Given the description of an element on the screen output the (x, y) to click on. 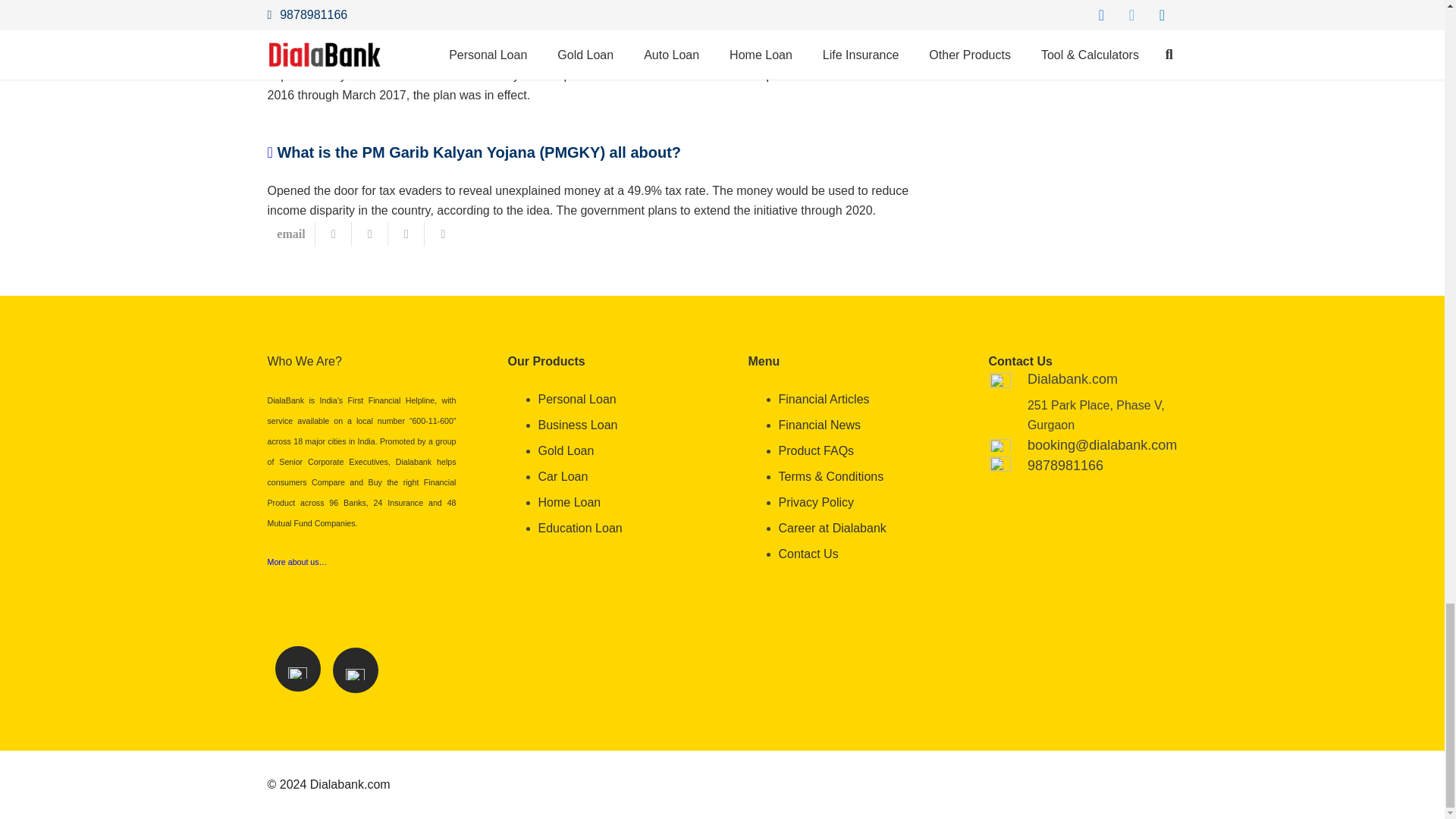
Email this (290, 233)
Share this (333, 233)
Share this (443, 233)
Tweet this (370, 233)
Share this (406, 233)
